Given the description of an element on the screen output the (x, y) to click on. 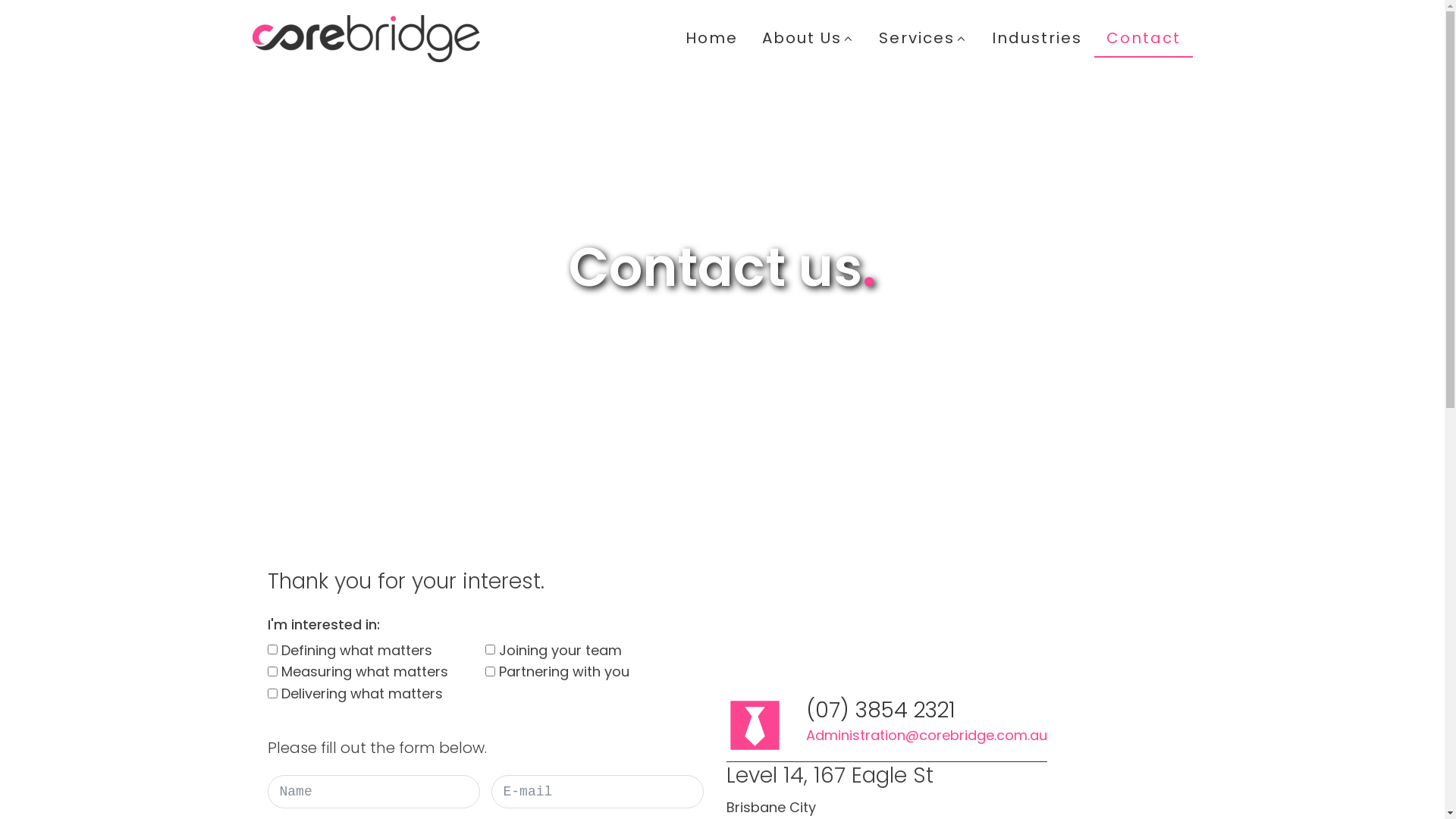
Industries Element type: text (1036, 38)
(07) 3854 2321 Element type: text (879, 710)
Home Element type: text (711, 38)
Contact Element type: text (1142, 38)
Administration@corebridge.com.au Element type: text (925, 735)
Services Element type: text (922, 38)
About Us Element type: text (807, 38)
